Given the description of an element on the screen output the (x, y) to click on. 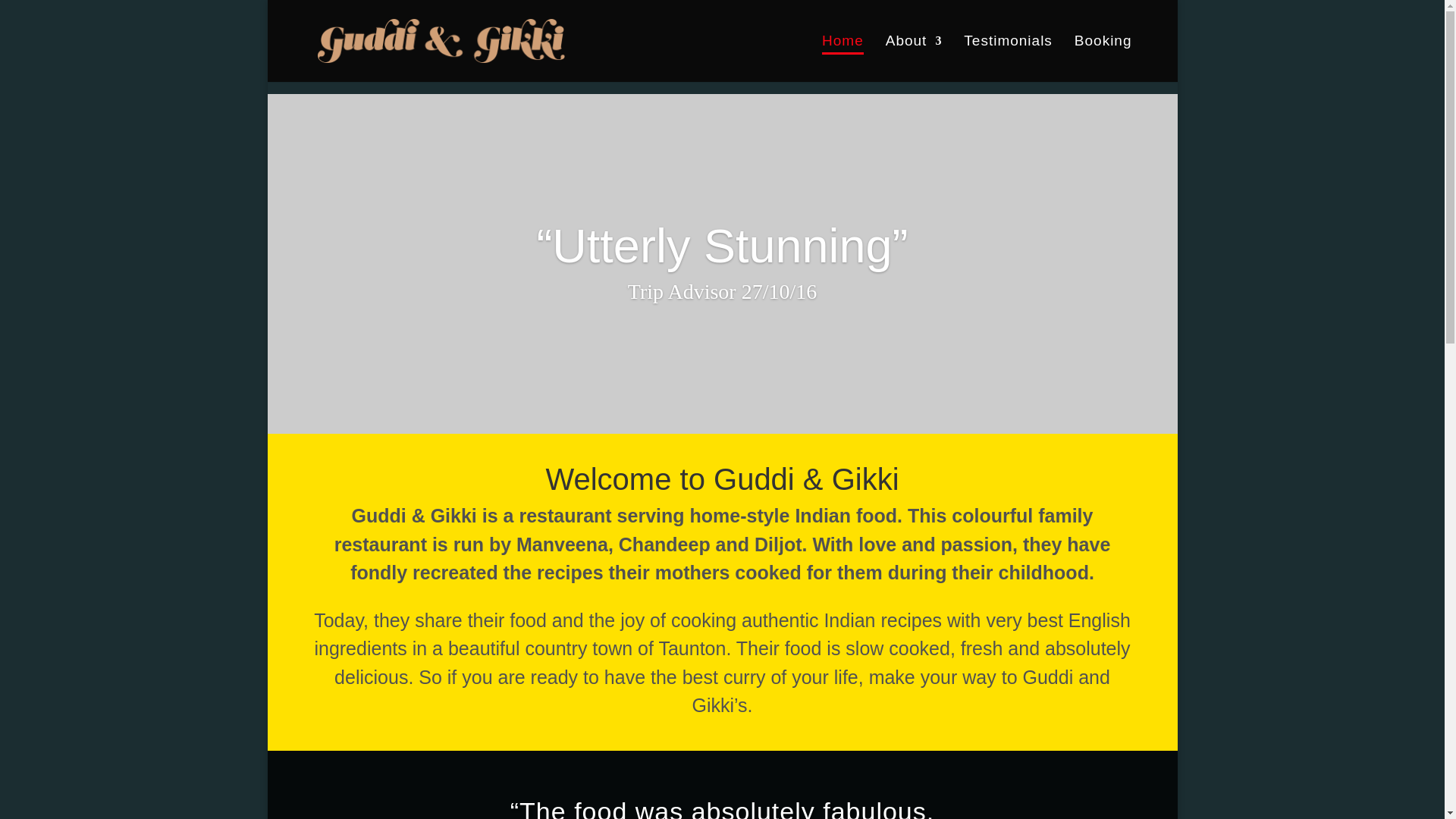
Booking (1103, 58)
Testimonials (1007, 58)
Home (842, 58)
About (913, 58)
